Given the description of an element on the screen output the (x, y) to click on. 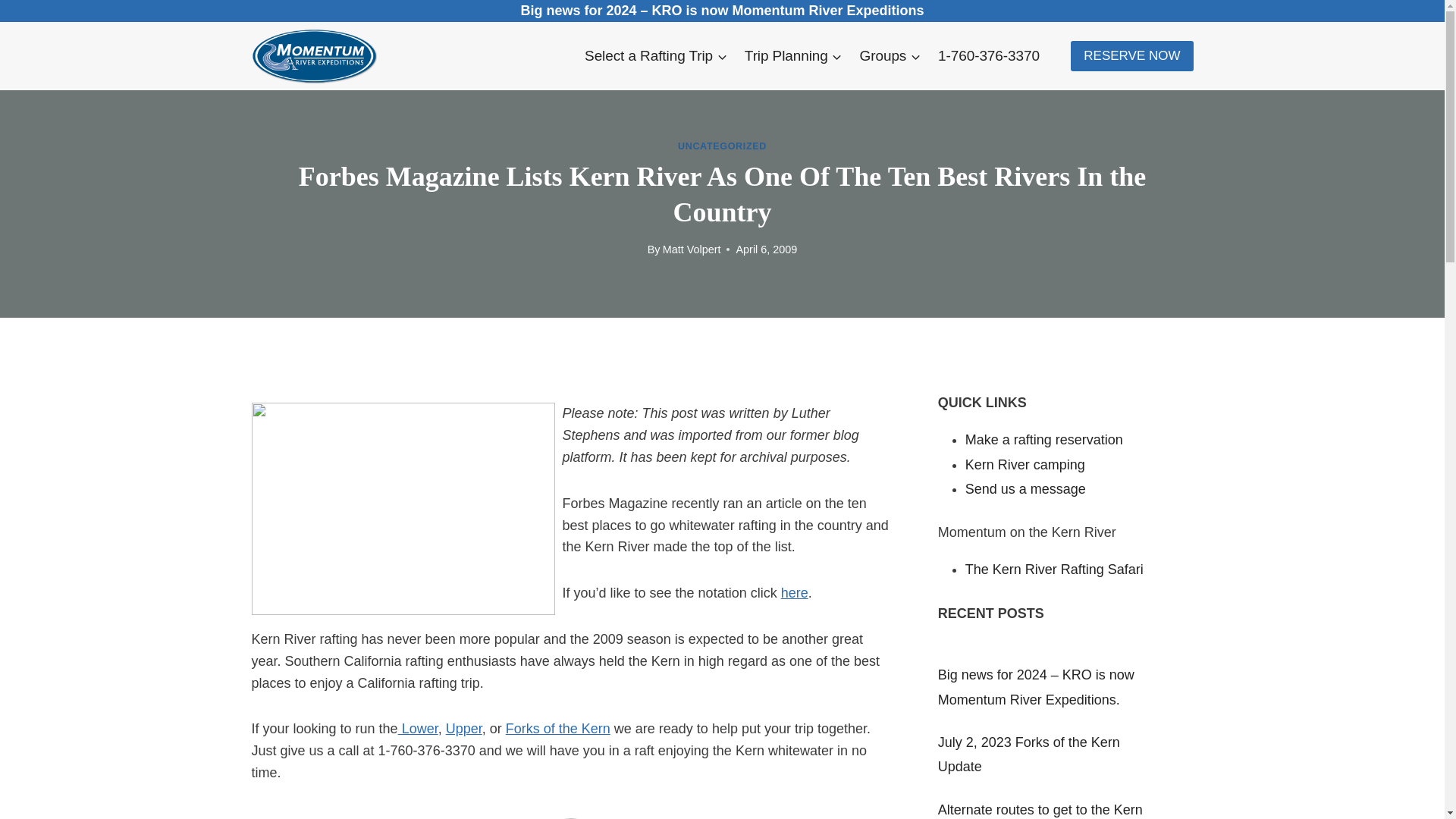
UNCATEGORIZED (722, 145)
Trip Planning (792, 56)
RESERVE NOW (1131, 56)
1-760-376-3370 (989, 56)
here (794, 592)
Groups (890, 56)
Select a Rafting Trip (656, 56)
Matt Volpert (691, 249)
